Given the description of an element on the screen output the (x, y) to click on. 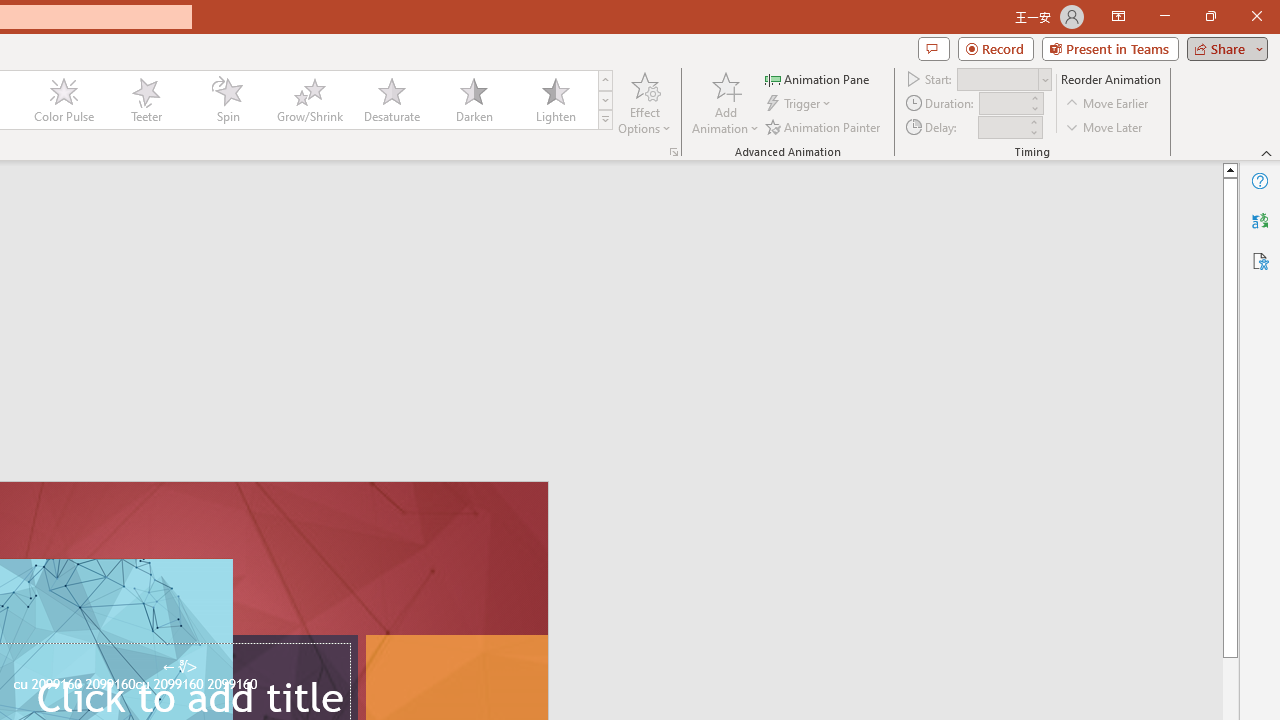
Trigger (799, 103)
Move Later (1105, 126)
Darken (473, 100)
Teeter (145, 100)
Move Earlier (1107, 103)
TextBox 7 (179, 667)
Desaturate (391, 100)
Animation Delay (1002, 127)
Animation Pane (818, 78)
